Given the description of an element on the screen output the (x, y) to click on. 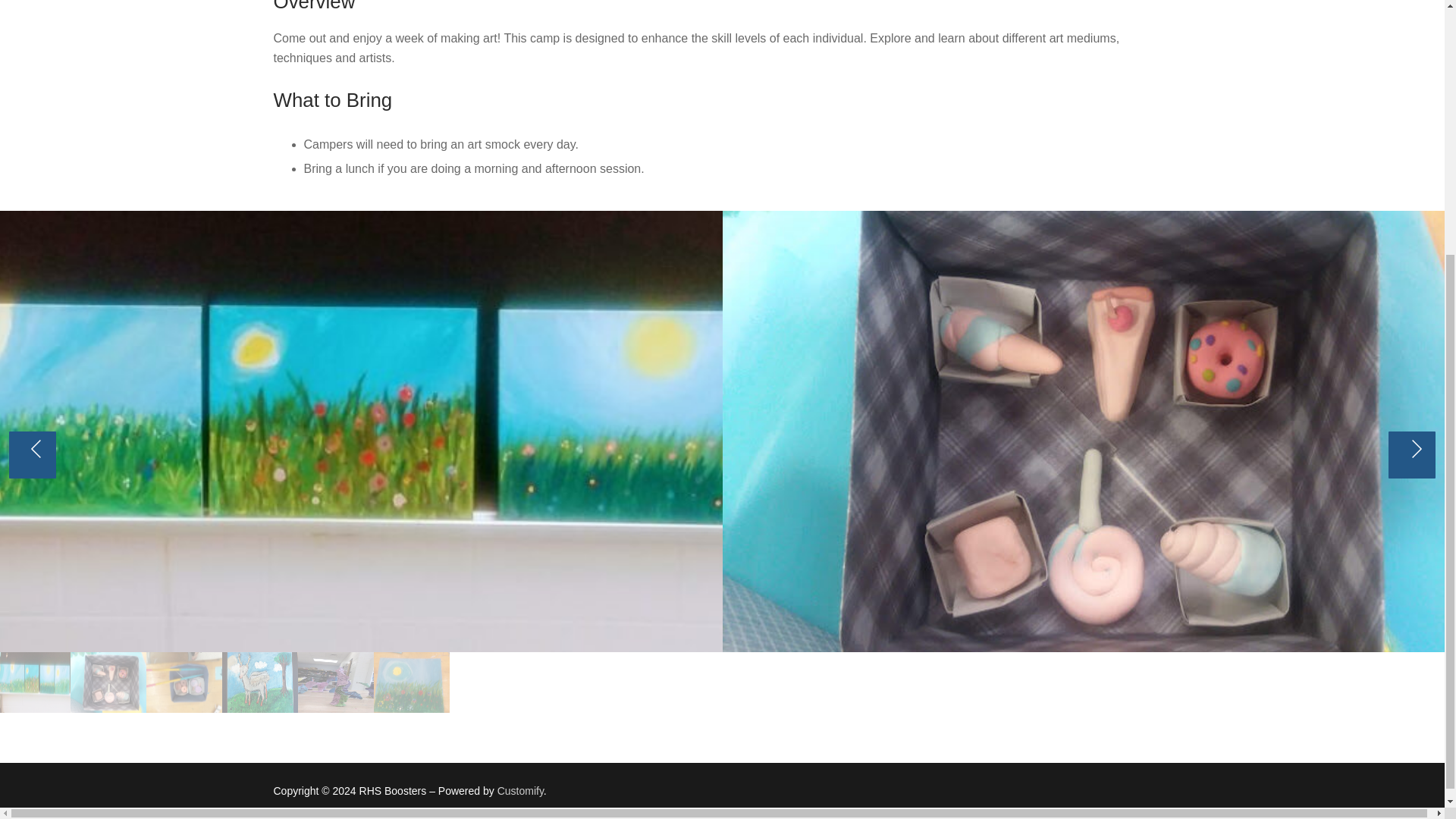
Customify (520, 790)
